Given the description of an element on the screen output the (x, y) to click on. 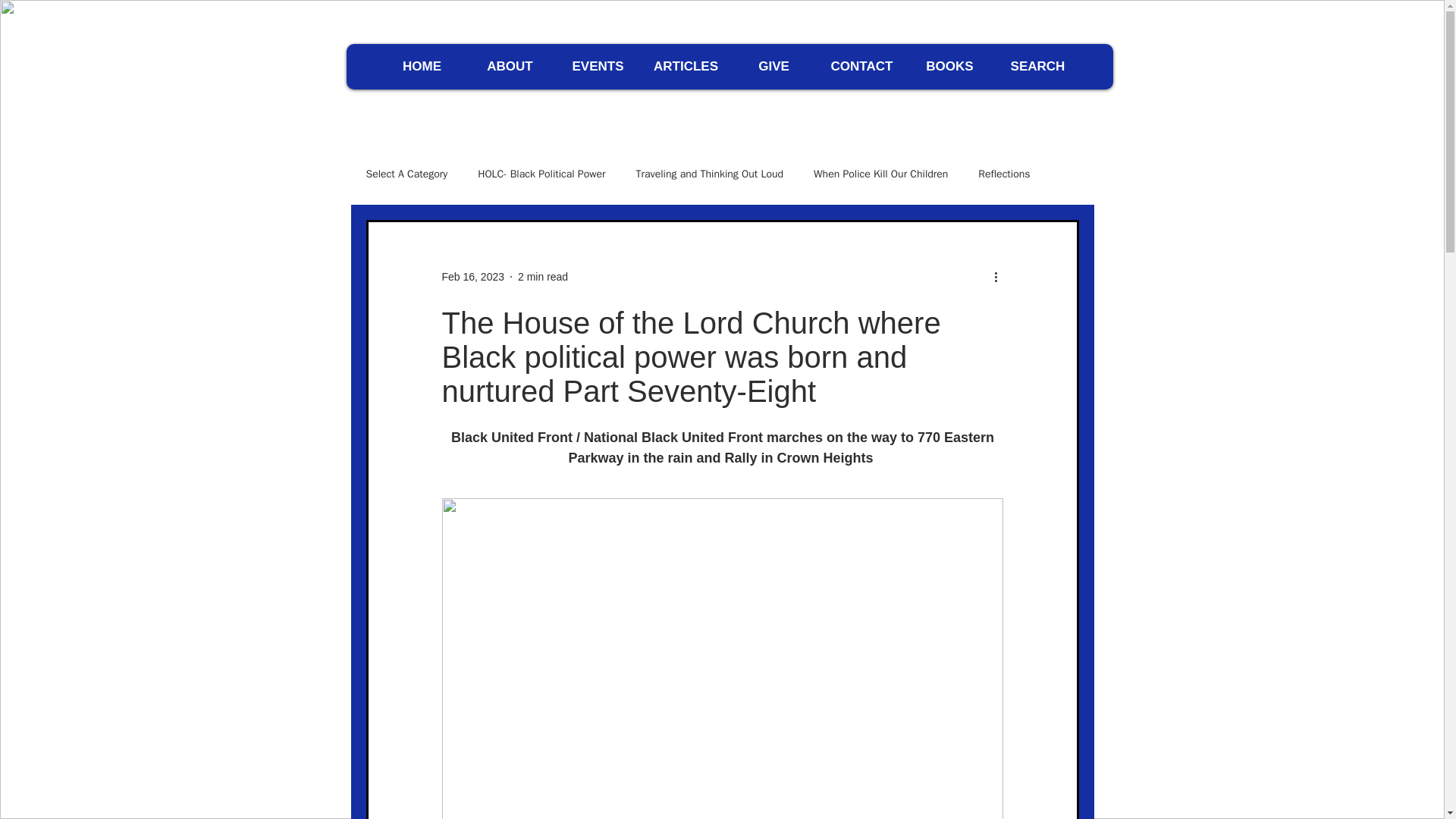
Traveling and Thinking Out Loud (708, 173)
When Police Kill Our Children (880, 173)
HOME (421, 66)
CONTACT (860, 66)
ARTICLES (685, 66)
BOOKS (948, 66)
SEARCH (1036, 66)
Reflections (1003, 173)
Select A Category (405, 173)
2 min read (542, 275)
